Given the description of an element on the screen output the (x, y) to click on. 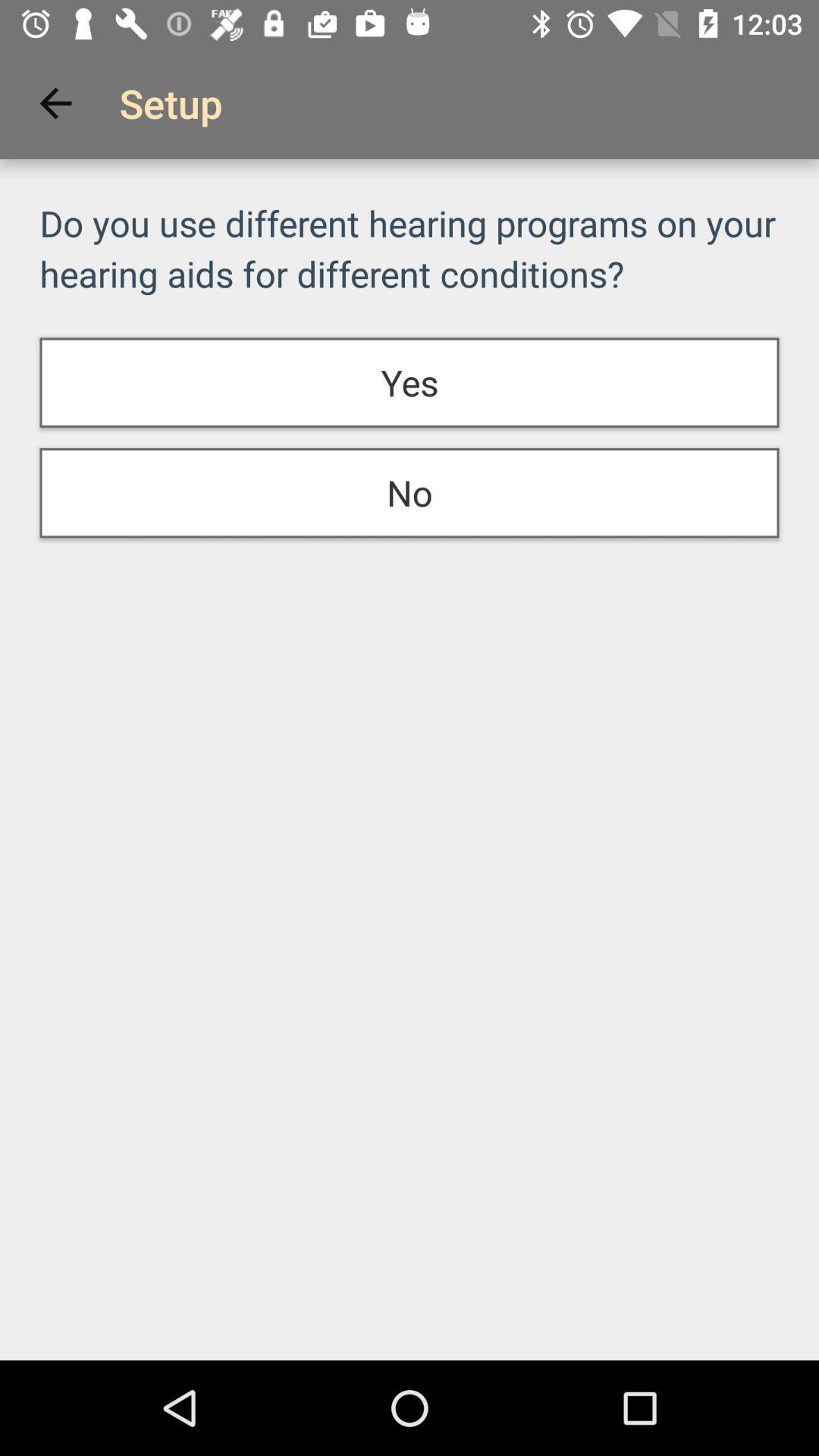
turn on no at the center (409, 493)
